Given the description of an element on the screen output the (x, y) to click on. 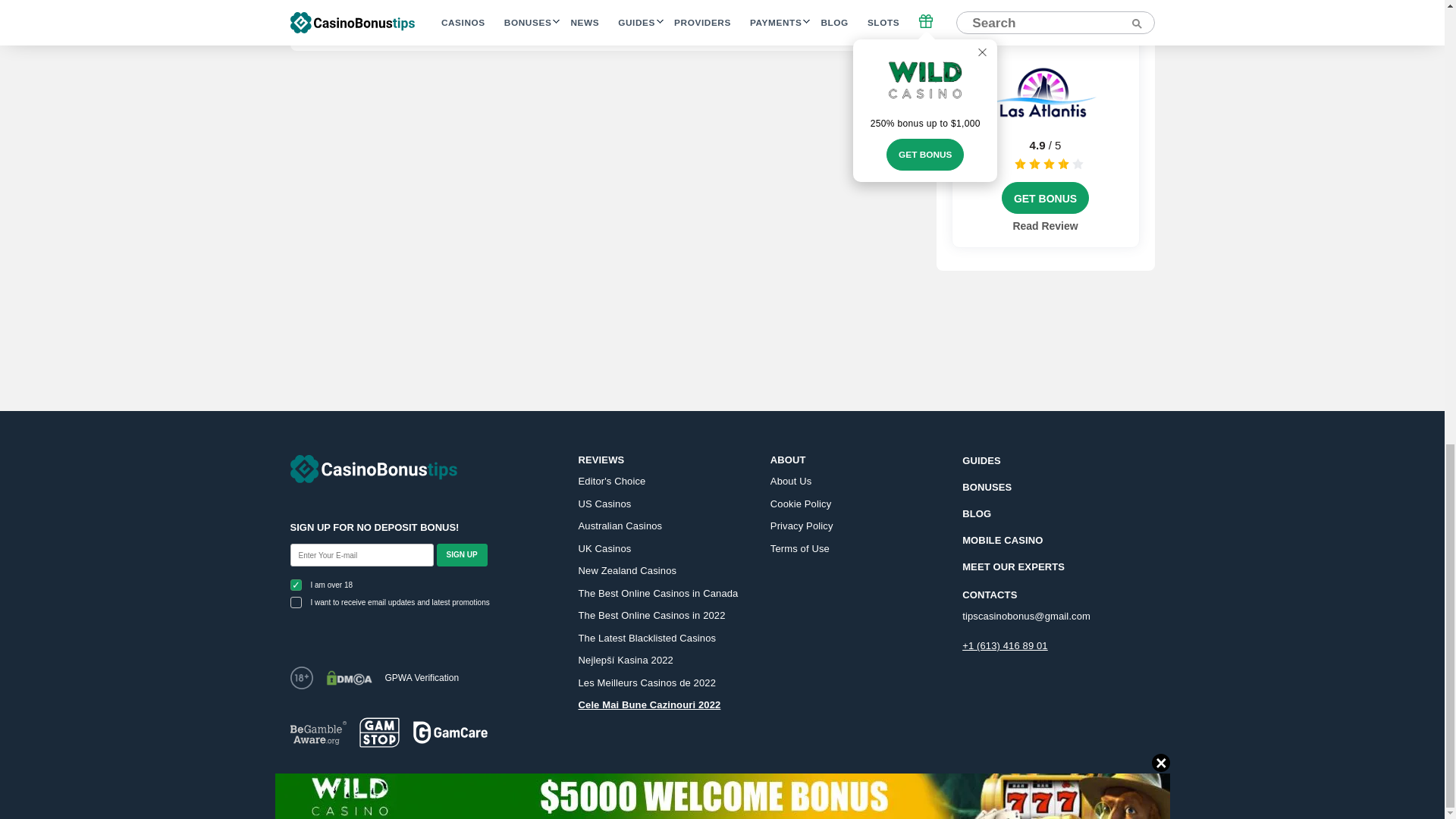
on (295, 584)
Be Gamble Aware (317, 732)
Gam stop (378, 732)
DMCA.com Protection Status (349, 677)
on (295, 602)
Game care (449, 731)
